Given the description of an element on the screen output the (x, y) to click on. 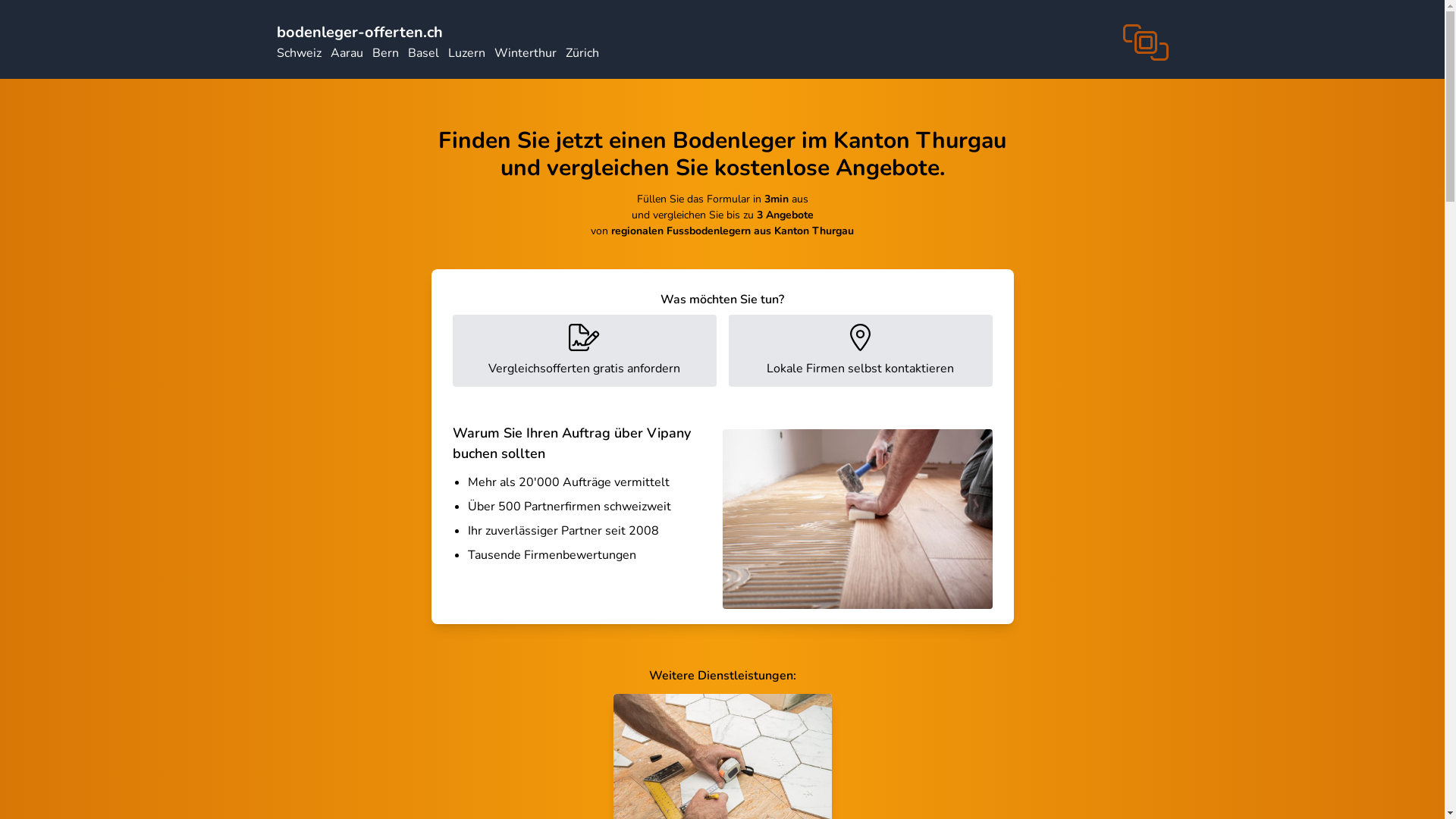
Schweiz Element type: text (298, 52)
Luzern Element type: text (465, 52)
Bern Element type: text (384, 52)
Aarau Element type: text (346, 52)
Winterthur Element type: text (525, 52)
bodenleger-offerten.ch Element type: text (359, 31)
Basel Element type: text (423, 52)
